Given the description of an element on the screen output the (x, y) to click on. 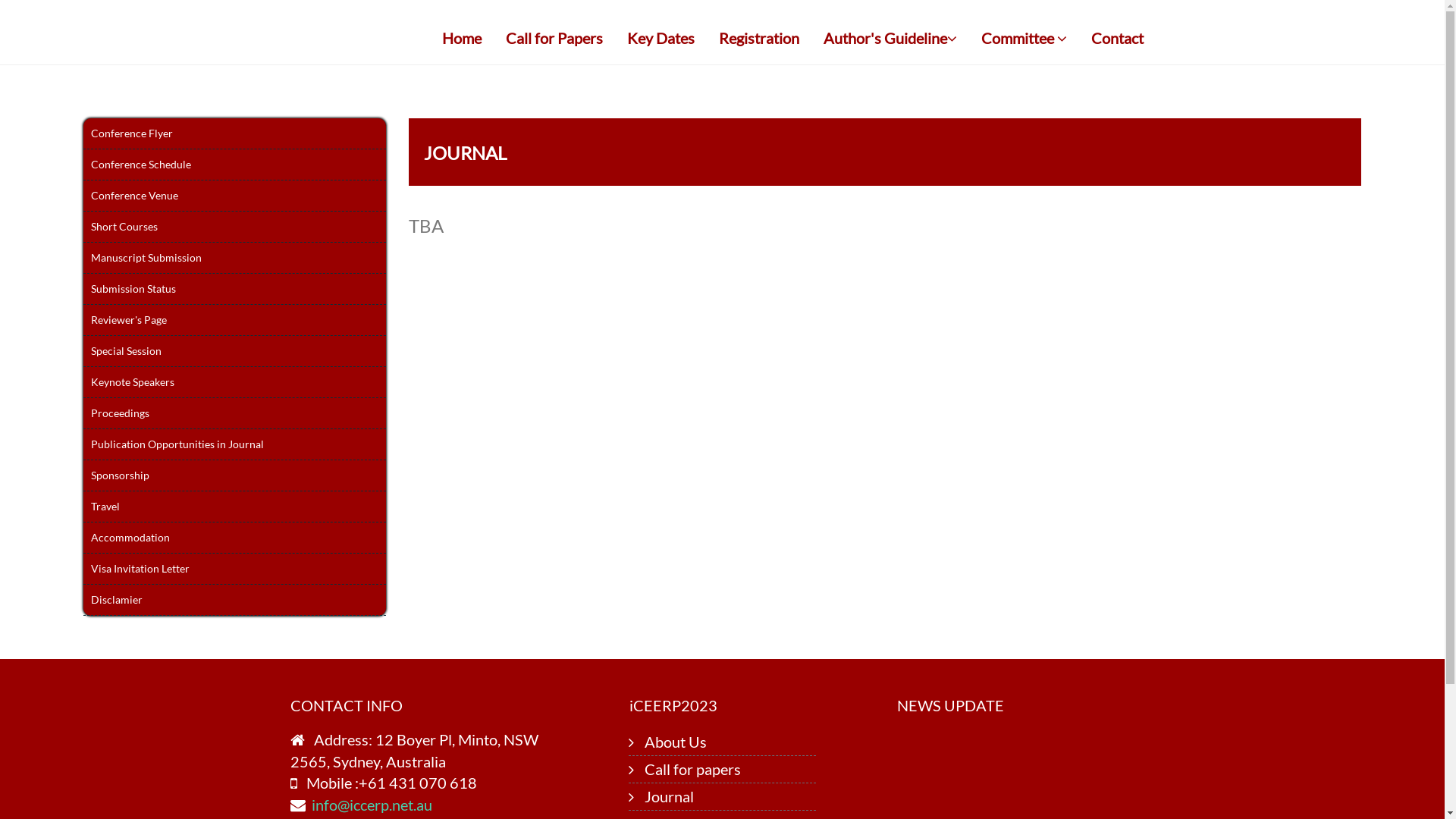
Registration Element type: text (757, 37)
Call for Papers Element type: text (554, 37)
Conference Flyer Element type: text (234, 133)
Accommodation Element type: text (234, 537)
Publication Opportunities in Journal Element type: text (234, 444)
Home Element type: text (461, 37)
Short Courses Element type: text (234, 226)
info@iccerp.net.au Element type: text (370, 804)
Key Dates Element type: text (660, 37)
Special Session Element type: text (234, 351)
Proceedings Element type: text (234, 413)
Journal Element type: text (668, 796)
Keynote Speakers Element type: text (234, 382)
Committee Element type: text (1023, 37)
Disclamier Element type: text (234, 599)
Submission Status Element type: text (234, 288)
Conference Venue Element type: text (234, 195)
Manuscript Submission Element type: text (234, 257)
Reviewer's Page Element type: text (234, 319)
Sponsorship Element type: text (234, 475)
Call for papers Element type: text (692, 768)
Visa Invitation Letter Element type: text (234, 568)
Author's Guideline Element type: text (889, 37)
Conference Schedule Element type: text (234, 164)
About Us Element type: text (675, 741)
Travel Element type: text (234, 506)
Contact Element type: text (1116, 37)
